Given the description of an element on the screen output the (x, y) to click on. 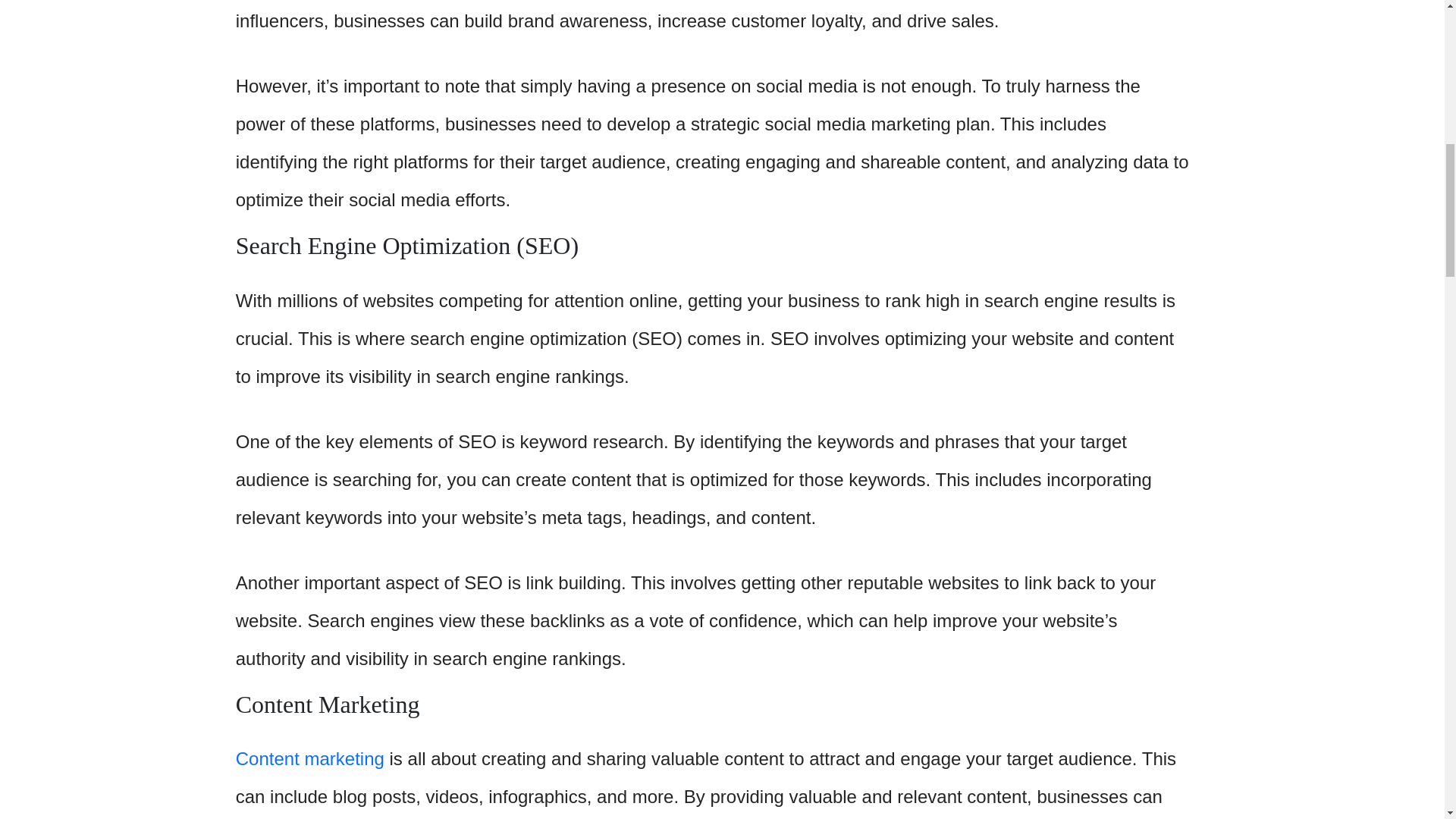
Content marketing (309, 758)
